Given the description of an element on the screen output the (x, y) to click on. 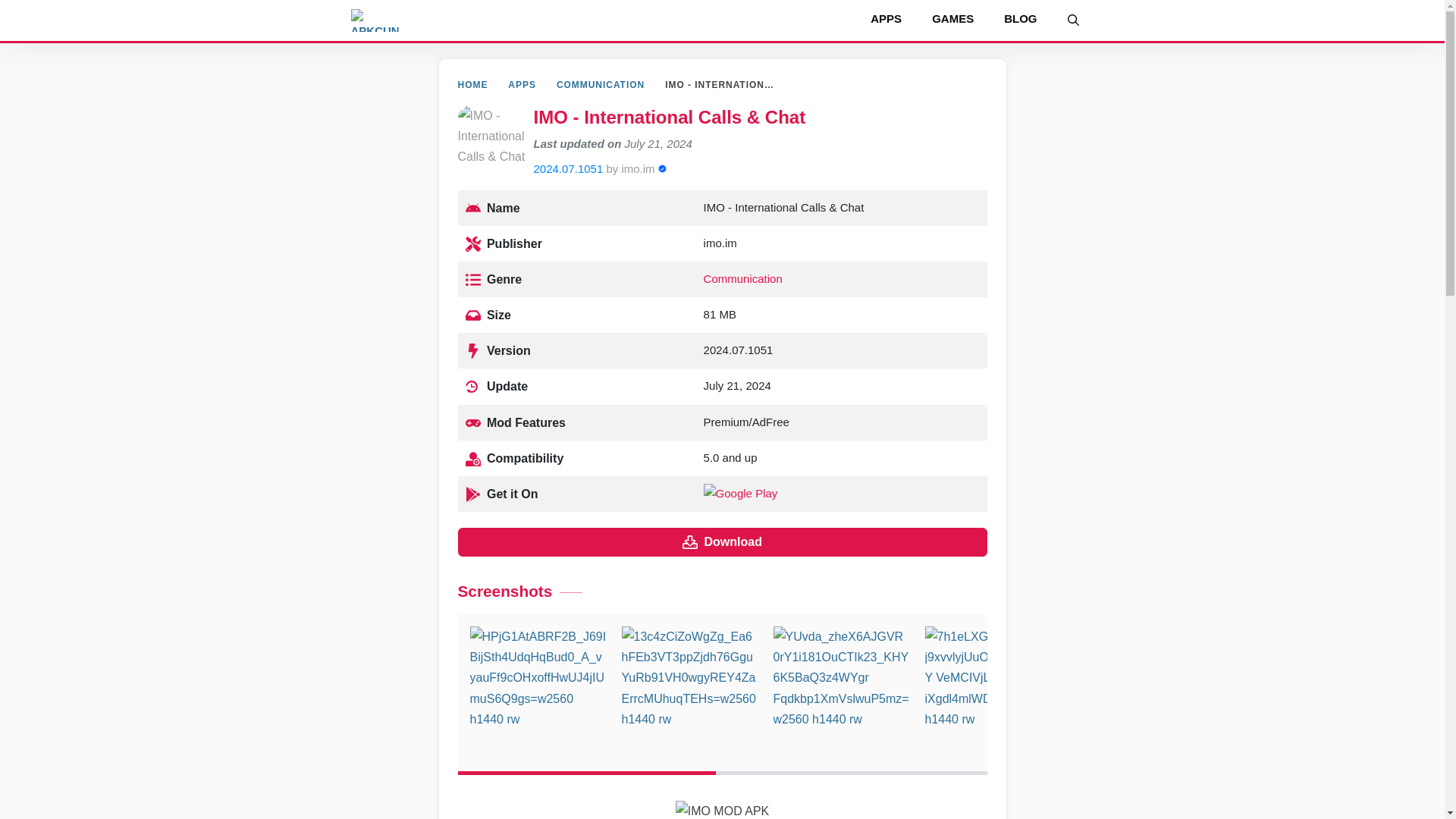
GAMES (952, 18)
ApkCunk (373, 20)
BLOG (1019, 18)
APPS (886, 18)
HOME (472, 84)
Verified (662, 168)
APPS (521, 84)
COMMUNICATION (600, 84)
Communication (743, 278)
Download (722, 541)
